Given the description of an element on the screen output the (x, y) to click on. 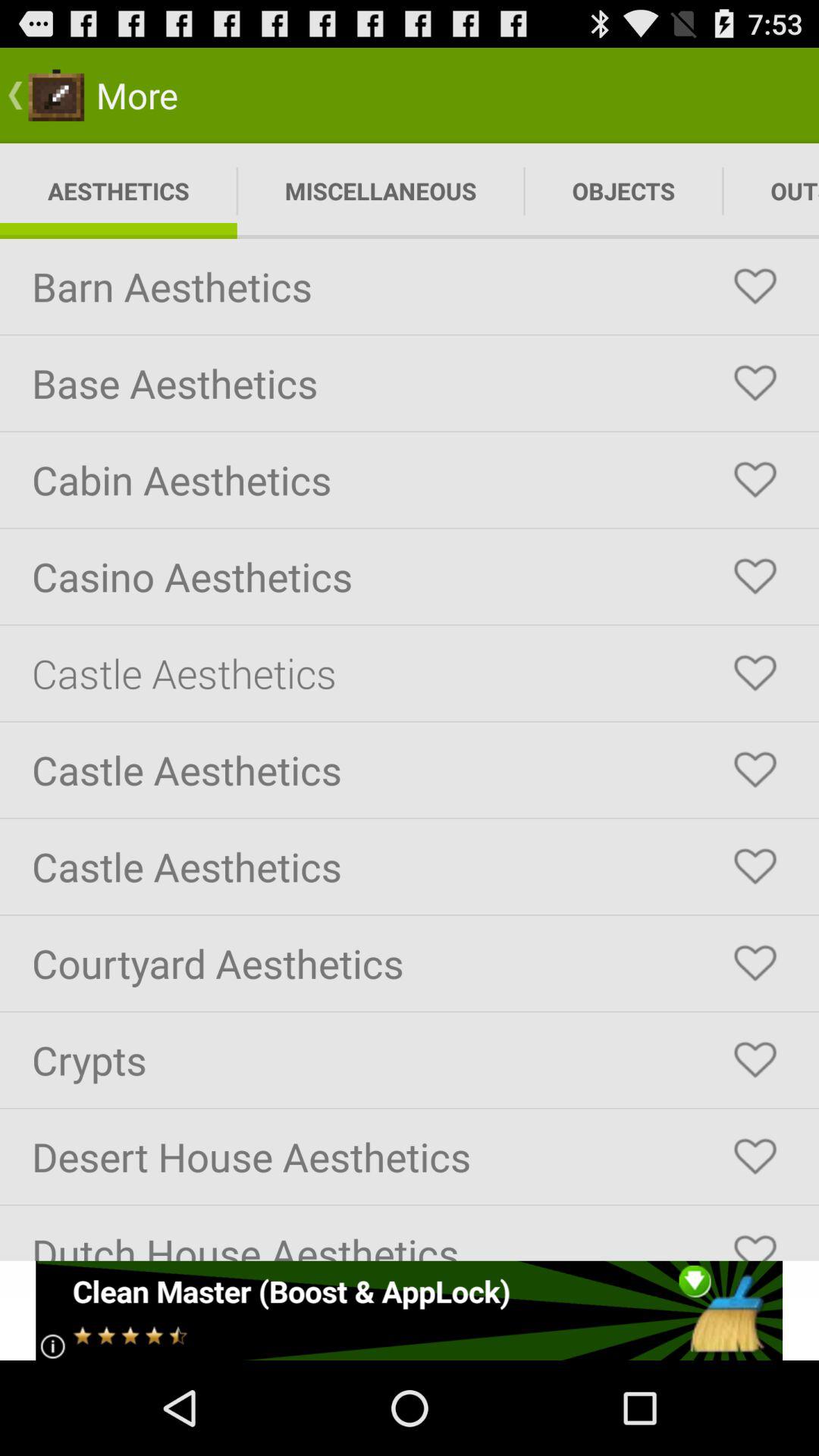
favorite castle aesthetics (755, 769)
